Given the description of an element on the screen output the (x, y) to click on. 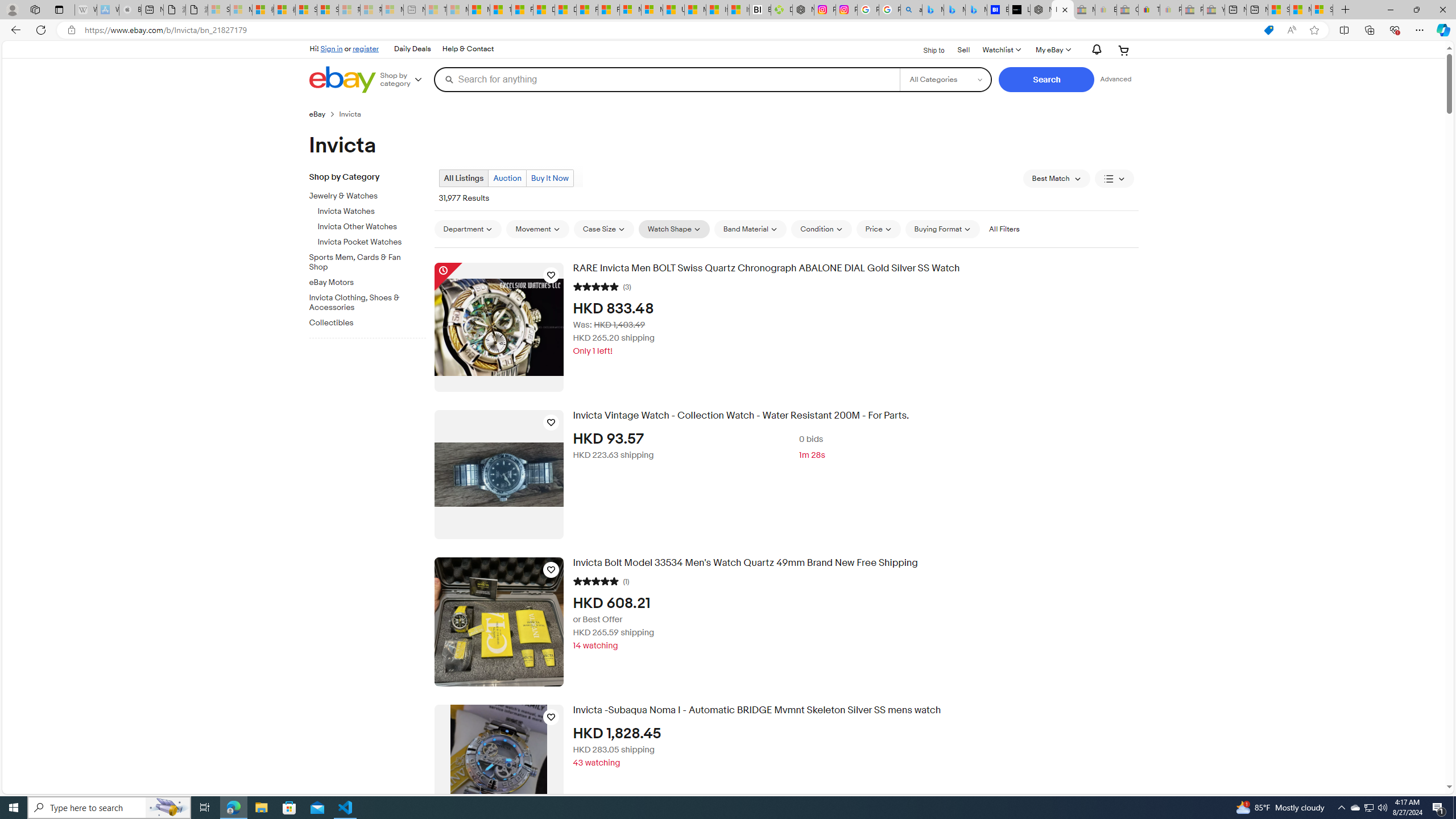
All Filters (1004, 229)
eBay Motors (362, 282)
Microsoft account | Account Checkup - Sleeping (392, 9)
Search for anything (666, 78)
Microsoft Bing Travel - Shangri-La Hotel Bangkok (975, 9)
Invicta Clothing, Shoes & Accessories (362, 303)
Movement (537, 229)
This site has coupons! Shopping in Microsoft Edge (1268, 29)
Sign in (331, 48)
Watchlist (1000, 49)
